Given the description of an element on the screen output the (x, y) to click on. 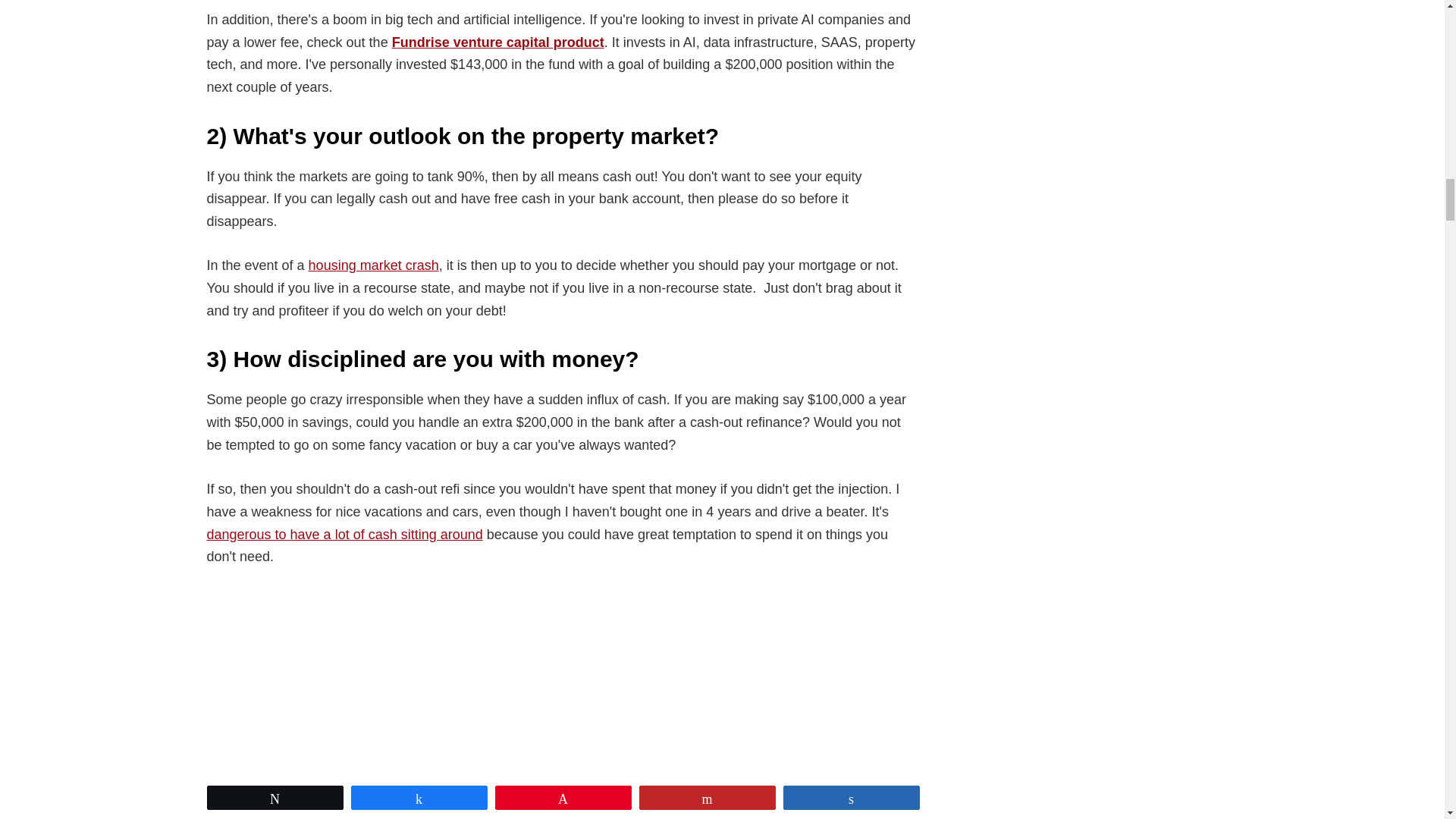
Fundrise venture capital product (497, 42)
housing market crash (373, 264)
dangerous to have a lot of cash sitting around (343, 533)
